Given the description of an element on the screen output the (x, y) to click on. 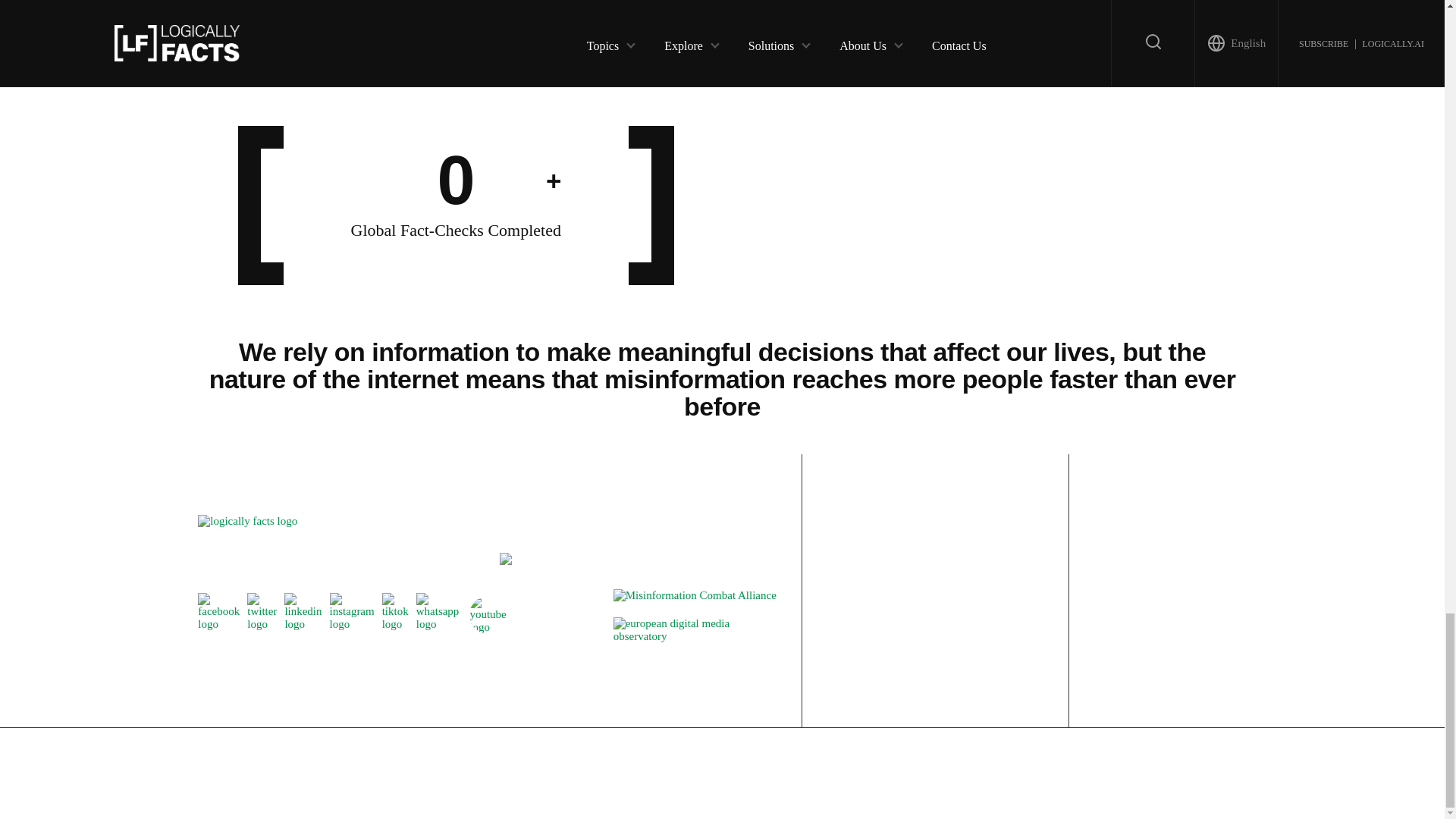
IFCN signatory (505, 561)
